Given the description of an element on the screen output the (x, y) to click on. 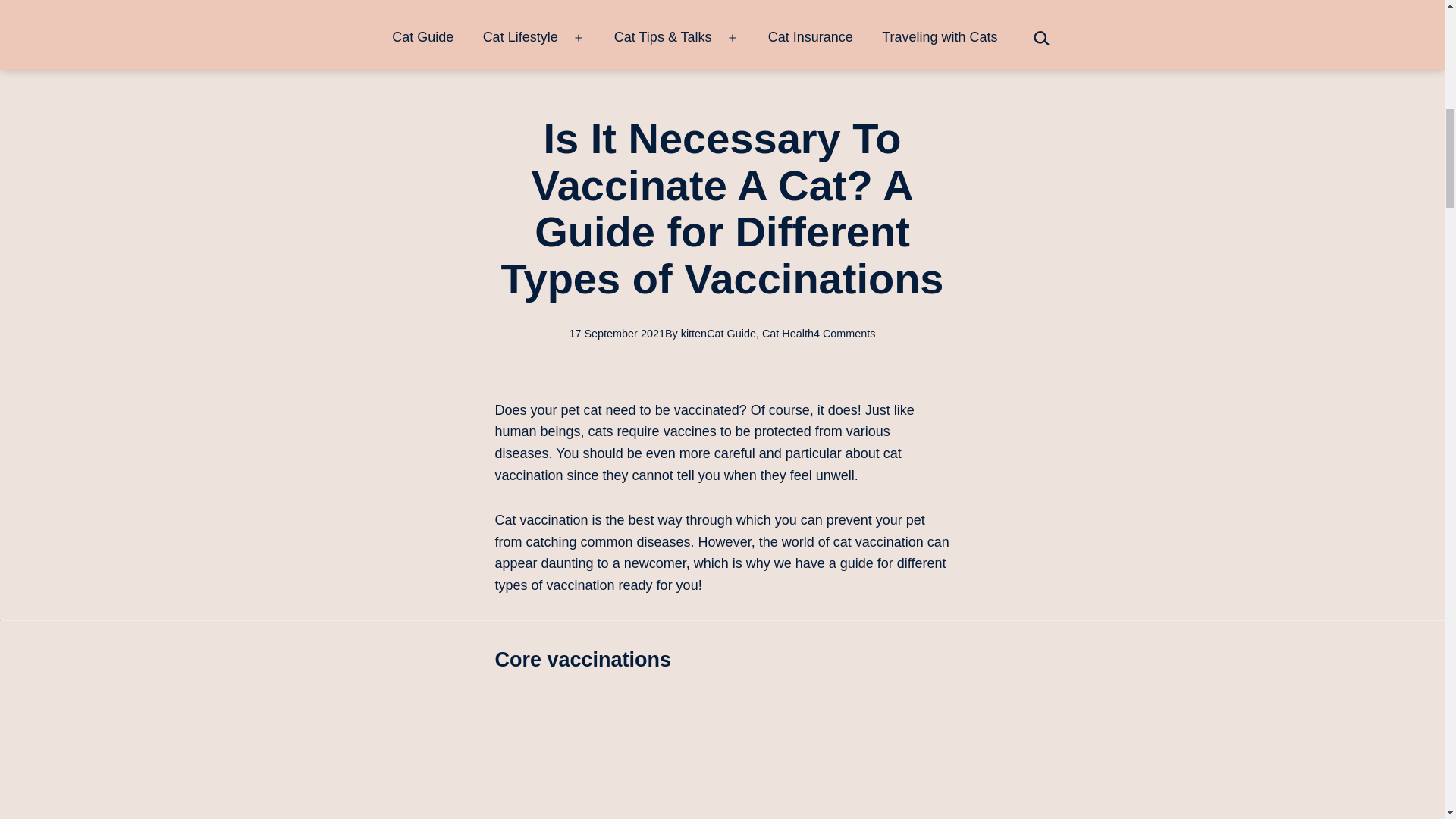
kitten (693, 333)
Cat Guide (730, 333)
Cat Health (787, 333)
